Given the description of an element on the screen output the (x, y) to click on. 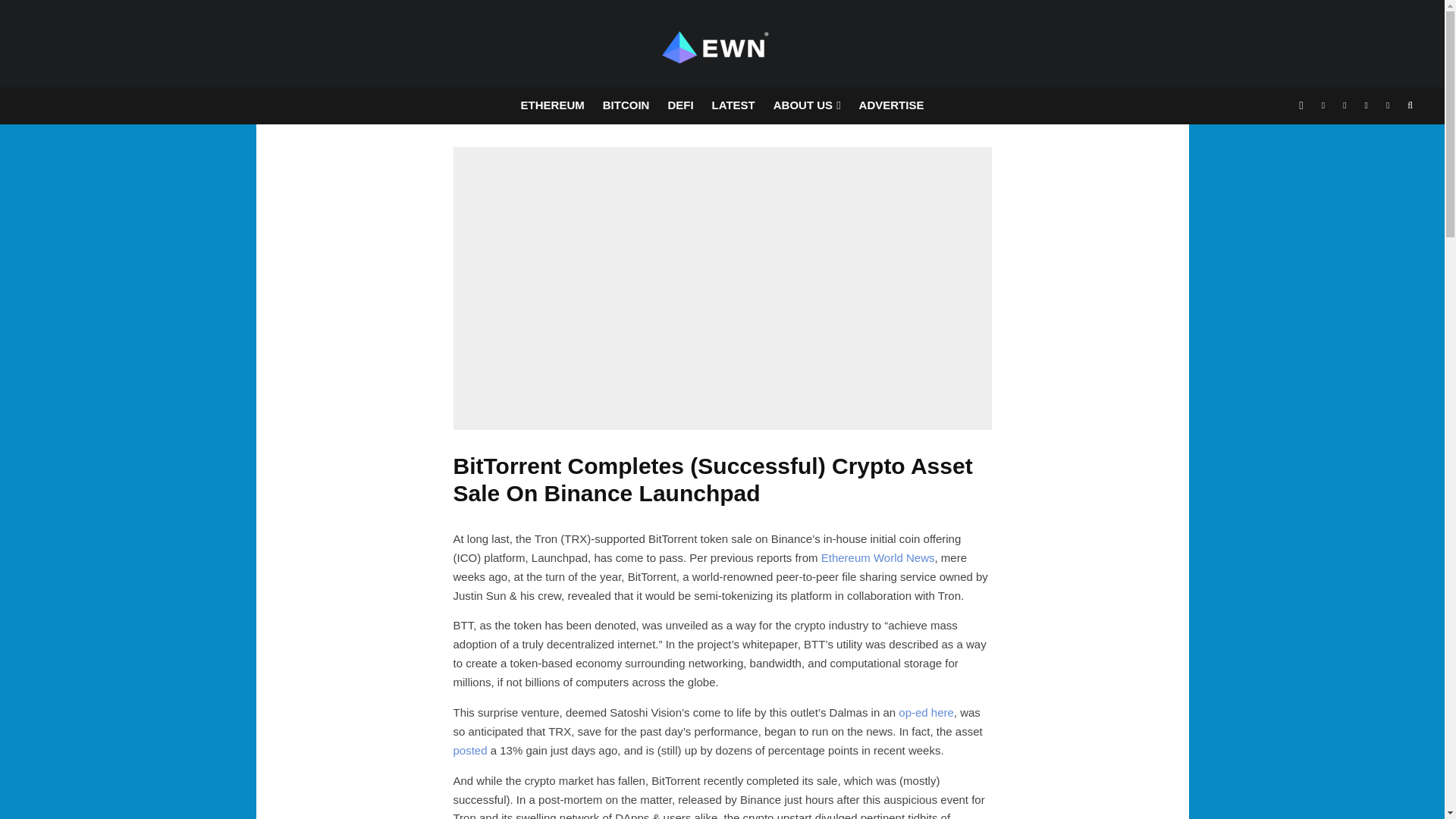
ADVERTISE (891, 105)
BITCOIN (626, 105)
DEFI (679, 105)
ABOUT US (807, 105)
ETHEREUM (553, 105)
LATEST (733, 105)
